Given the description of an element on the screen output the (x, y) to click on. 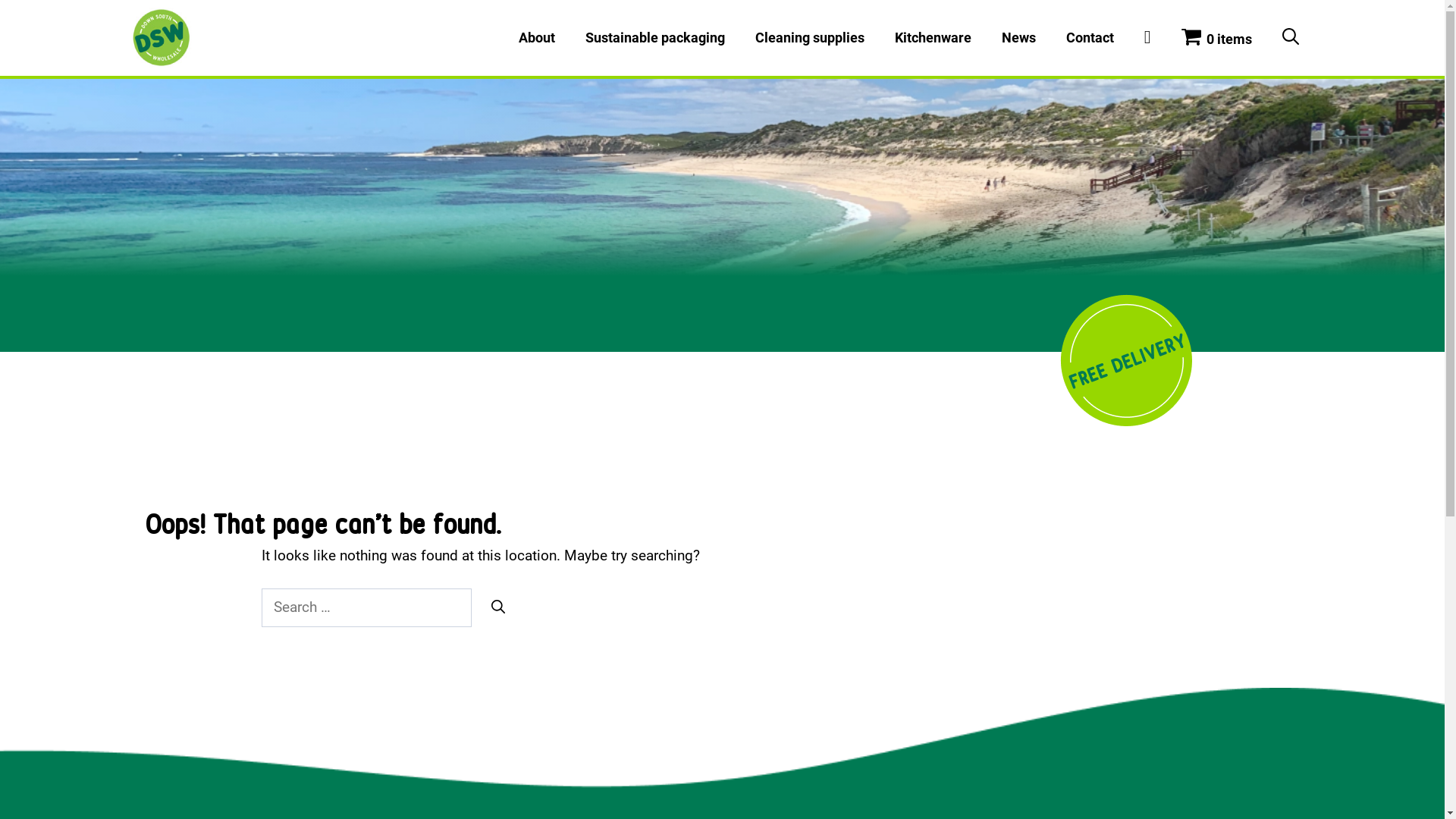
Sustainable packaging Element type: text (655, 37)
News Element type: text (1018, 37)
Cleaning supplies Element type: text (809, 37)
0 items Element type: text (1216, 38)
Contact Element type: text (1090, 37)
Search for: Element type: hover (365, 607)
Kitchenware Element type: text (932, 37)
About Element type: text (536, 37)
